Given the description of an element on the screen output the (x, y) to click on. 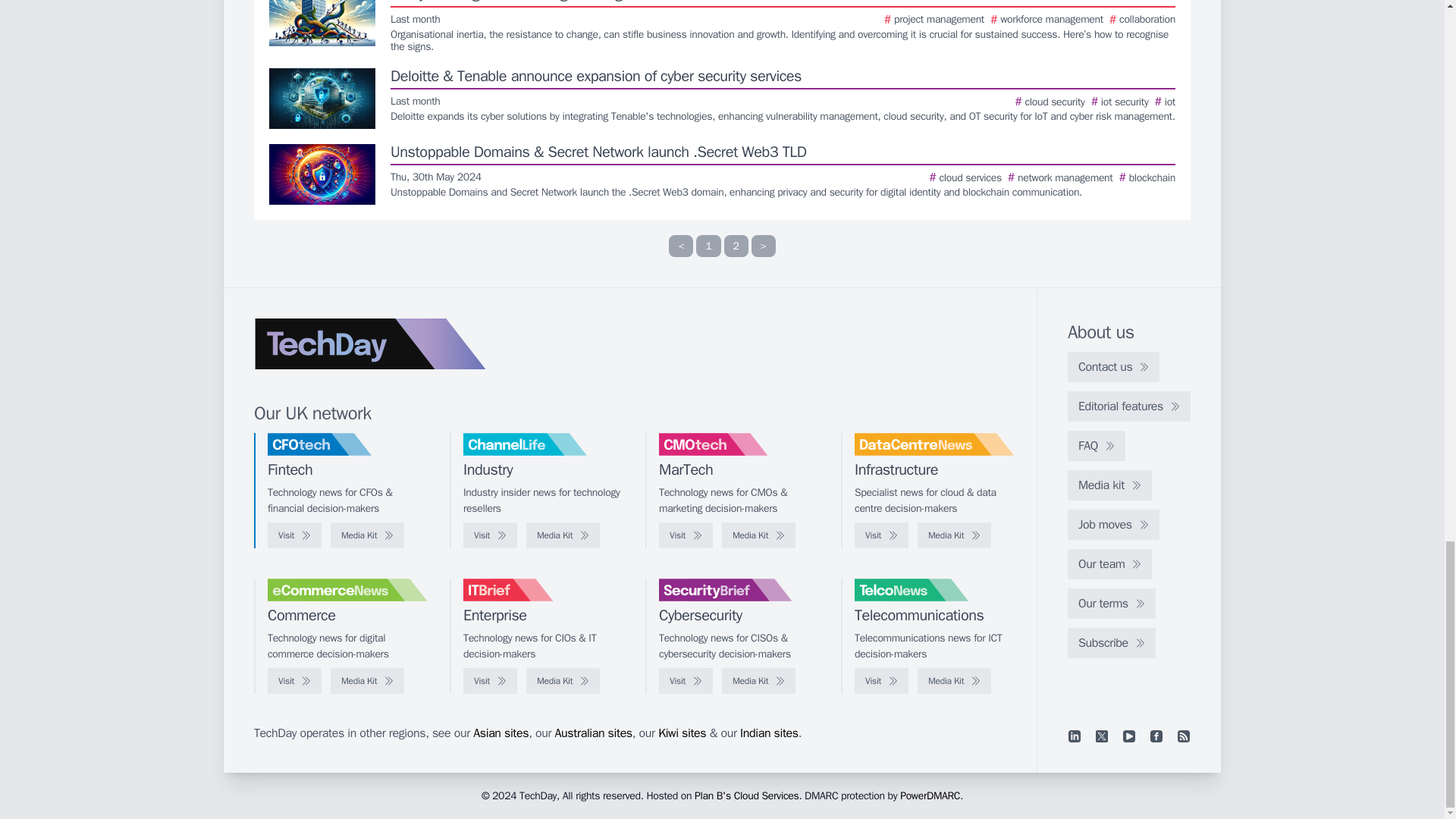
1 (707, 246)
Media Kit (562, 534)
Visit (489, 534)
2 (735, 246)
Media Kit (367, 534)
Visit (294, 534)
